Given the description of an element on the screen output the (x, y) to click on. 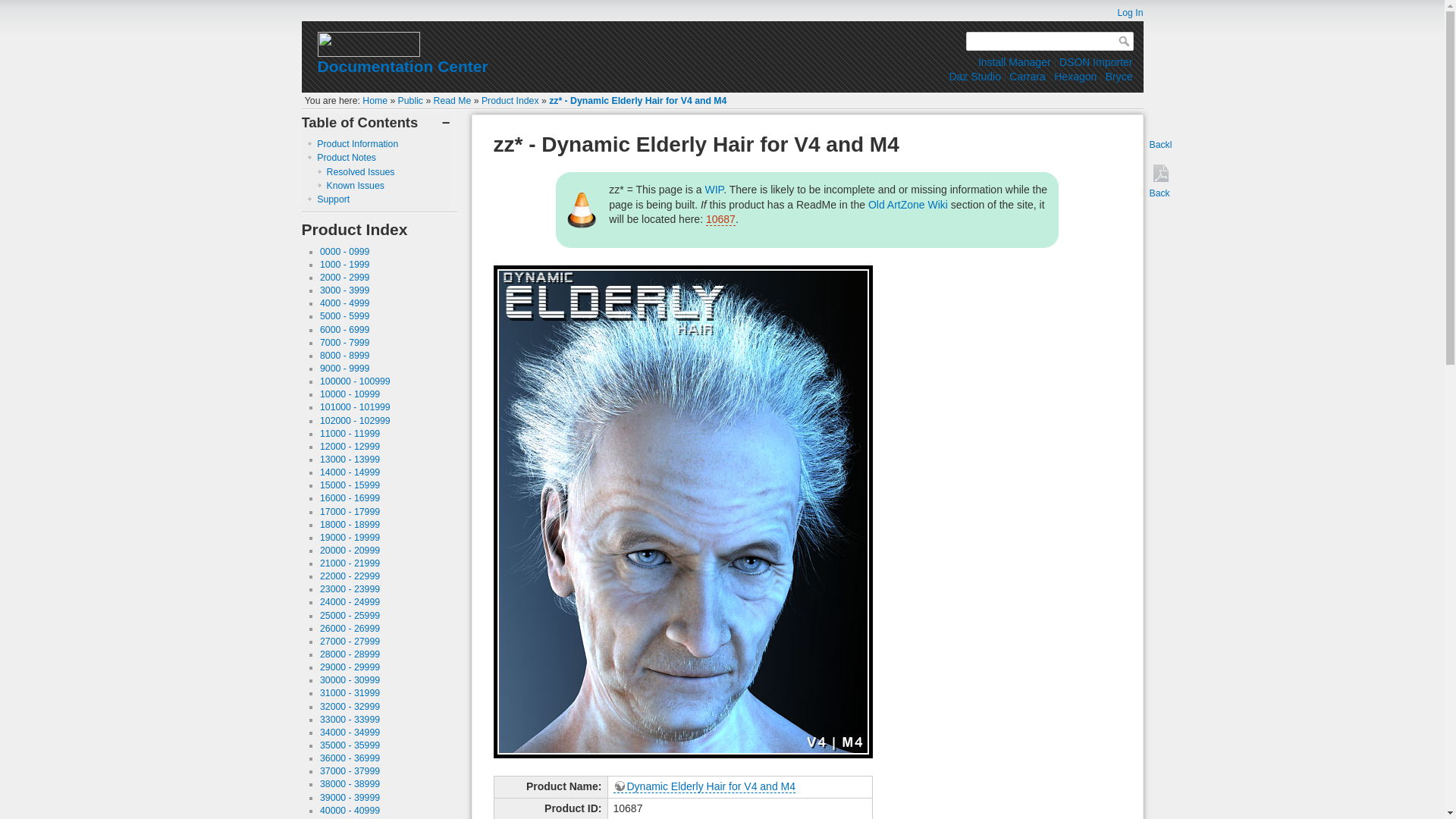
4000 - 4999 (344, 303)
100000 - 100999 (355, 380)
start (374, 100)
5000 - 5999 (344, 316)
11000 - 11999 (350, 433)
Product Information (357, 143)
public:software:bryce:start (1118, 76)
10000 - 10999 (350, 394)
Search (1125, 40)
Search (1125, 40)
13000 - 13999 (350, 459)
0000 - 0999 (344, 251)
public:software:hexagon:start (1075, 76)
1000 - 1999 (344, 264)
DSON Importer (1095, 61)
